Given the description of an element on the screen output the (x, y) to click on. 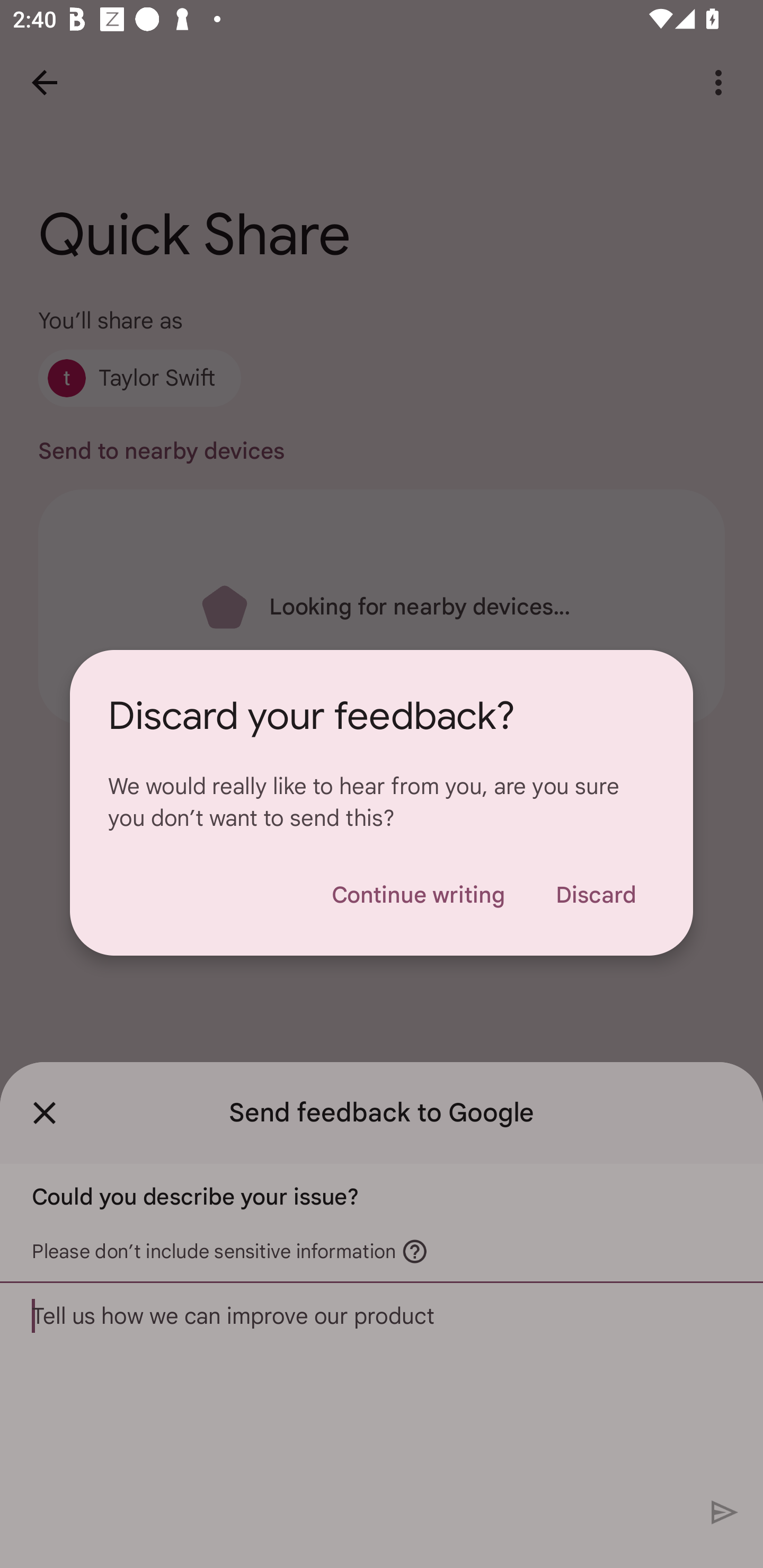
Continue writing (417, 894)
Discard (595, 894)
